Given the description of an element on the screen output the (x, y) to click on. 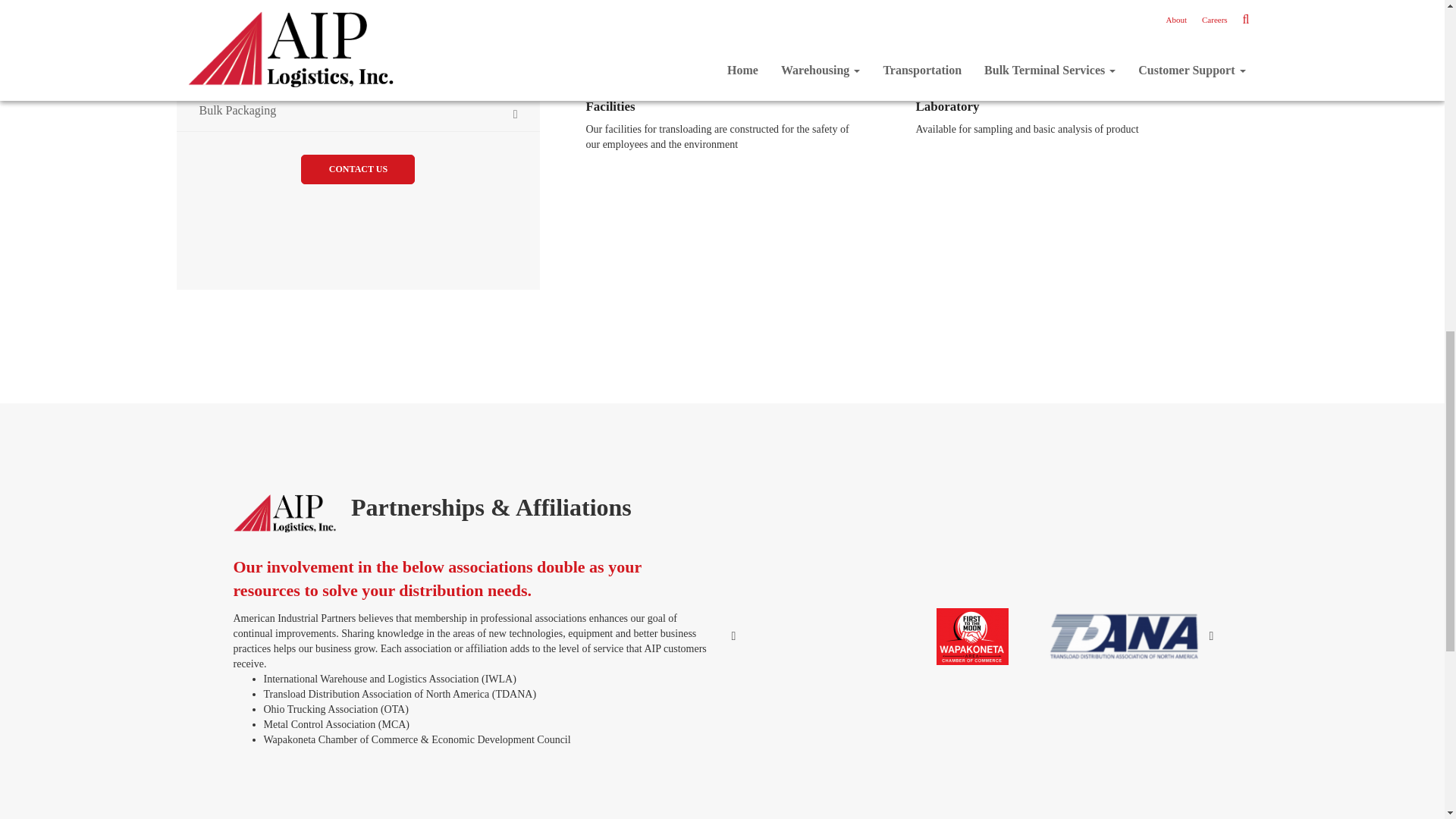
Storage Tanks (358, 29)
CONTACT US (357, 169)
Transloading (358, 4)
Rail Yard (358, 69)
Bulk Packaging (358, 110)
